Given the description of an element on the screen output the (x, y) to click on. 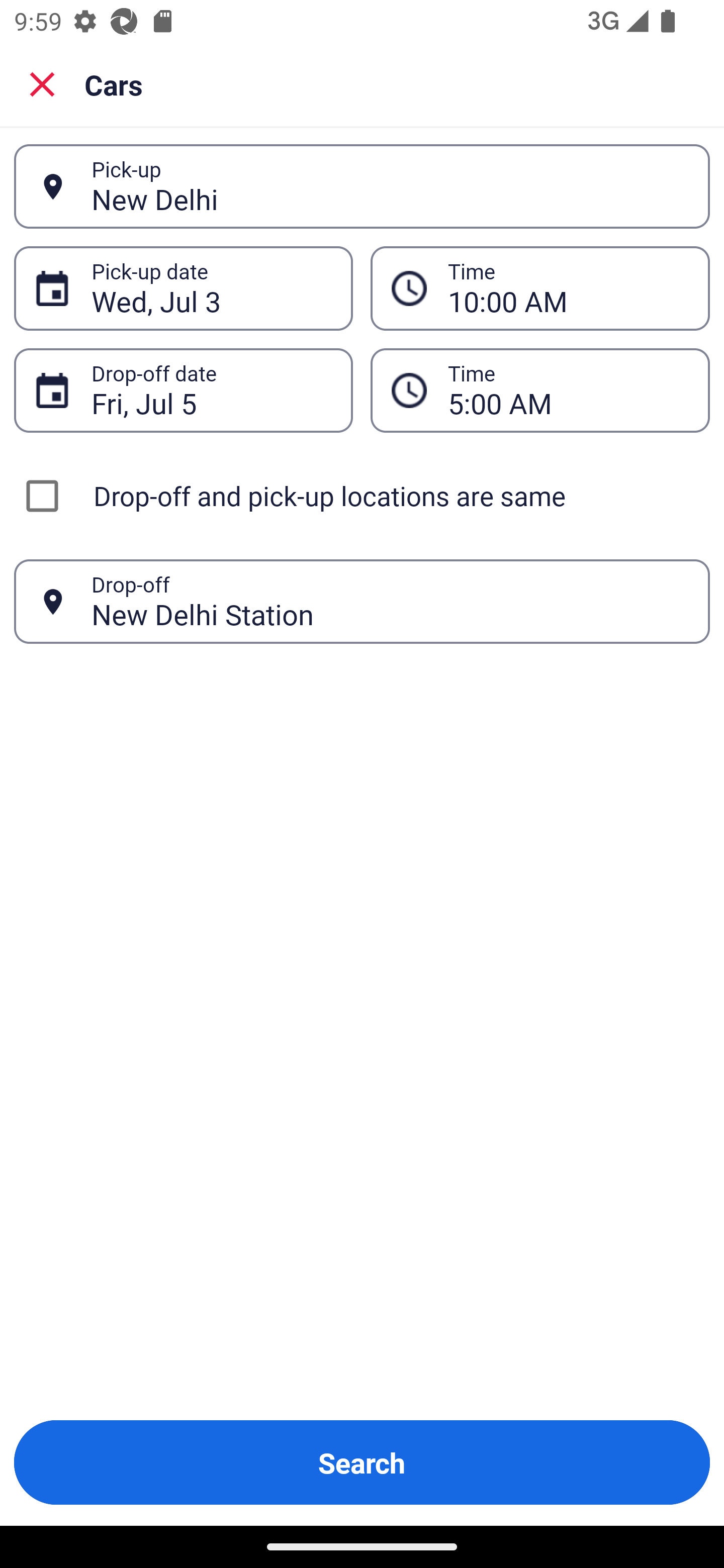
Close search screen (41, 83)
New Delhi Pick-up (361, 186)
New Delhi (389, 186)
Wed, Jul 3 Pick-up date (183, 288)
10:00 AM (540, 288)
Wed, Jul 3 (211, 288)
10:00 AM (568, 288)
Fri, Jul 5 Drop-off date (183, 390)
5:00 AM (540, 390)
Fri, Jul 5 (211, 390)
5:00 AM (568, 390)
Drop-off and pick-up locations are same (361, 495)
New Delhi Station Drop-off (361, 601)
New Delhi Station (389, 601)
Search Button Search (361, 1462)
